Given the description of an element on the screen output the (x, y) to click on. 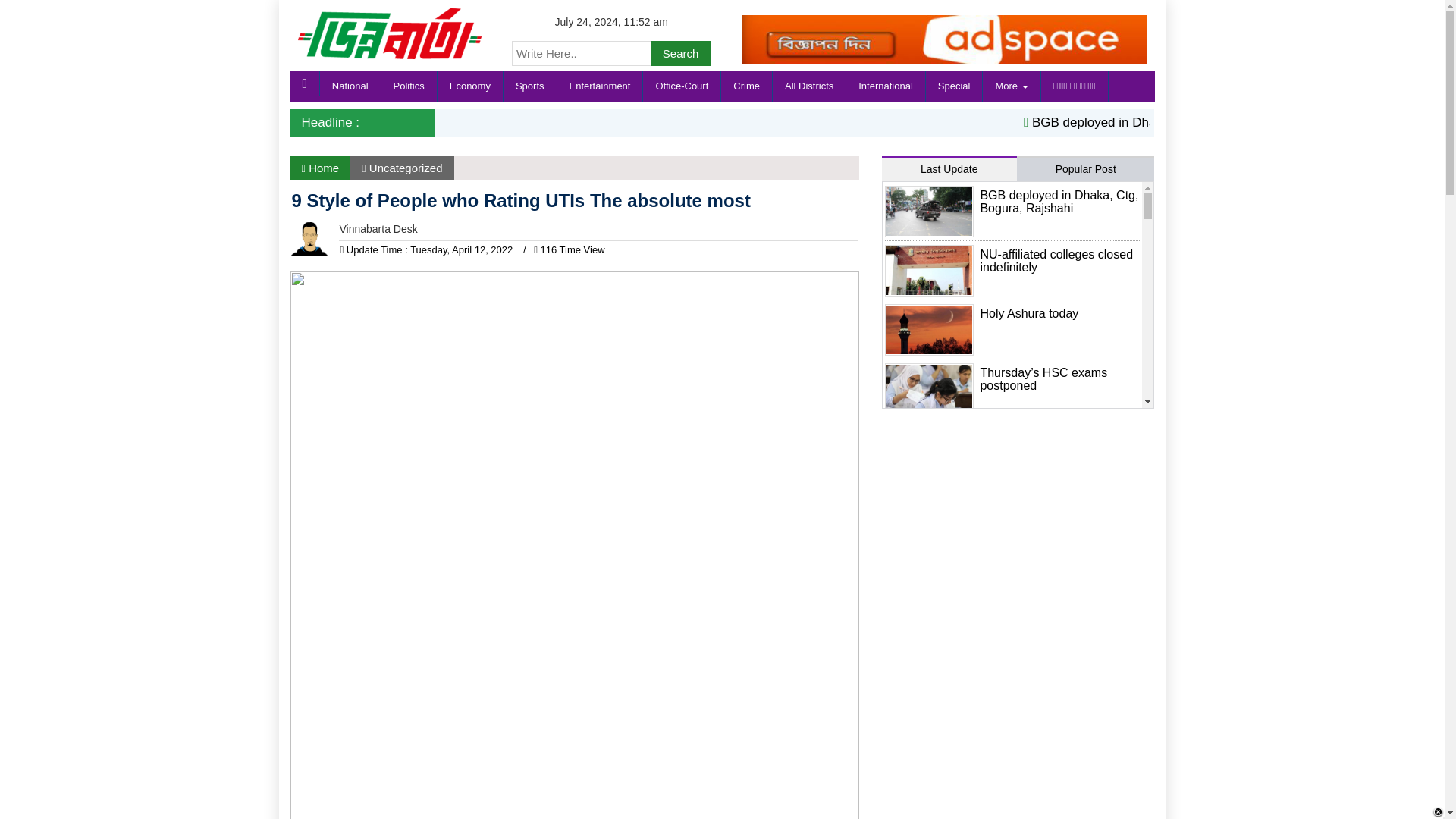
Sports (530, 86)
Home (320, 167)
Politics (409, 86)
All districts (809, 86)
National (350, 86)
Politics (409, 86)
More (1011, 86)
Sports (530, 86)
International (885, 86)
Office-Court (681, 86)
Economy (470, 86)
More (1011, 86)
Entertainment (600, 86)
Entertainment (600, 86)
National (350, 86)
